Given the description of an element on the screen output the (x, y) to click on. 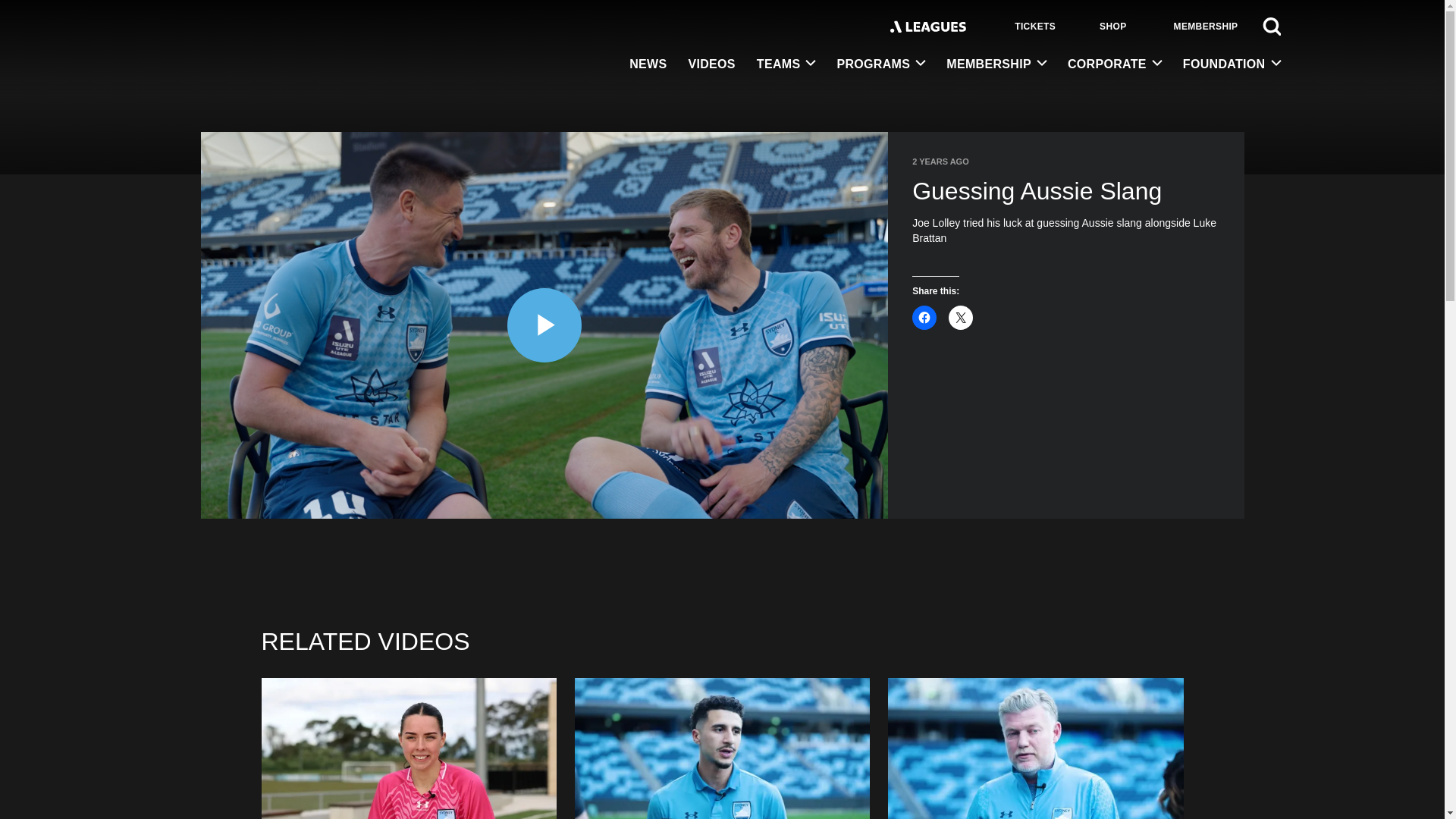
Click to share on X (960, 317)
VIDEOS (711, 65)
Play Video (543, 325)
PROGRAMS (880, 64)
NEWS (647, 65)
Click to share on Facebook (924, 317)
TEAMS (786, 64)
